Given the description of an element on the screen output the (x, y) to click on. 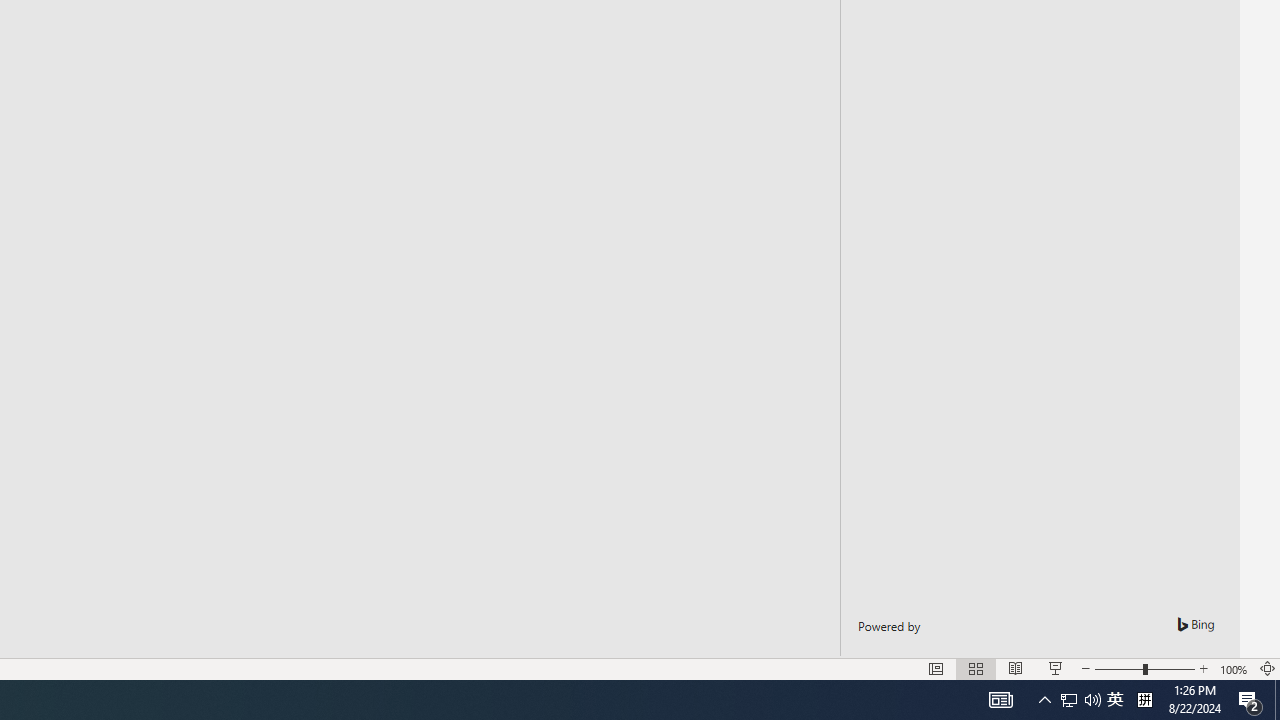
Zoom 100% (1234, 668)
